Given the description of an element on the screen output the (x, y) to click on. 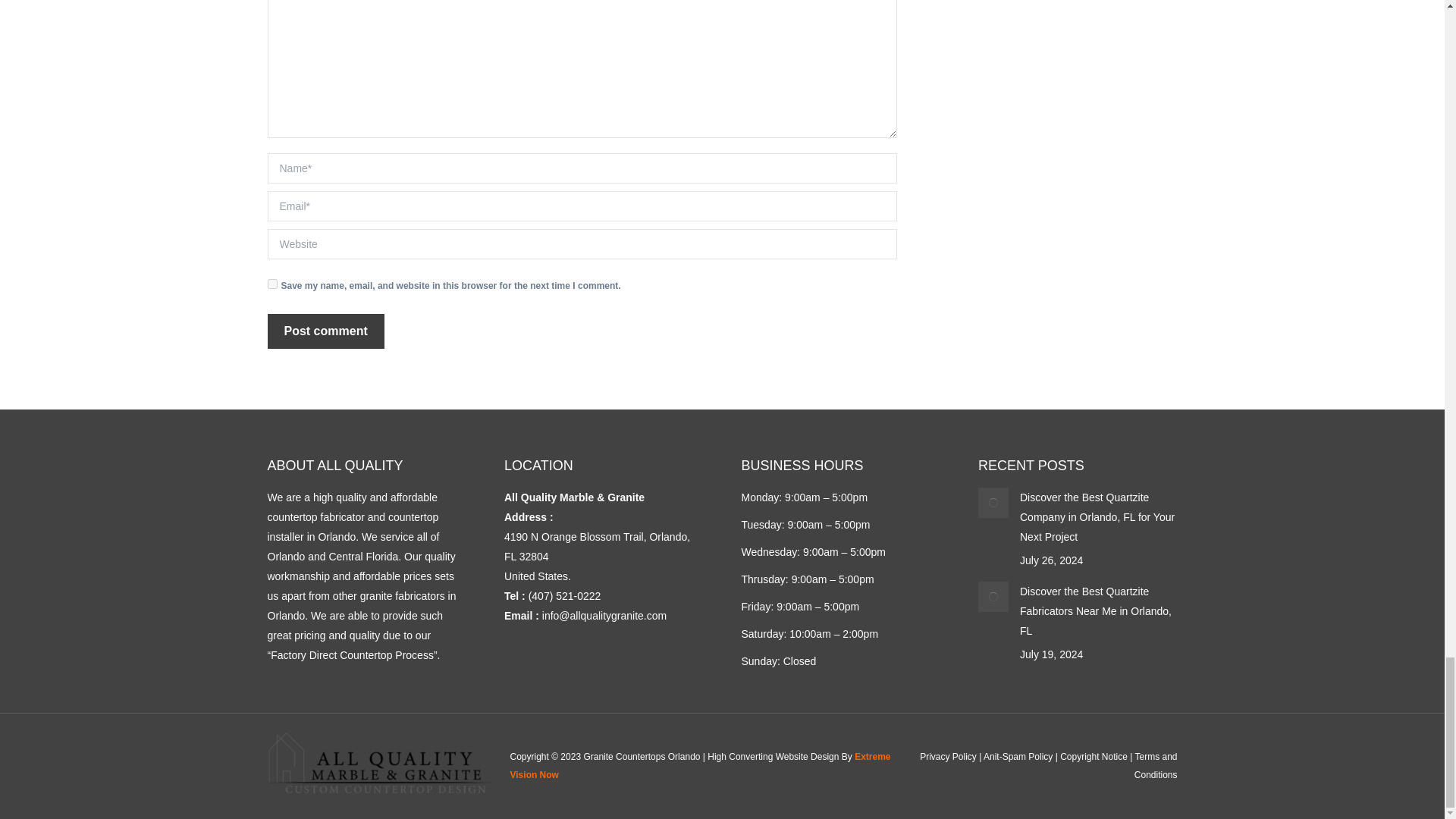
yes (271, 284)
